Given the description of an element on the screen output the (x, y) to click on. 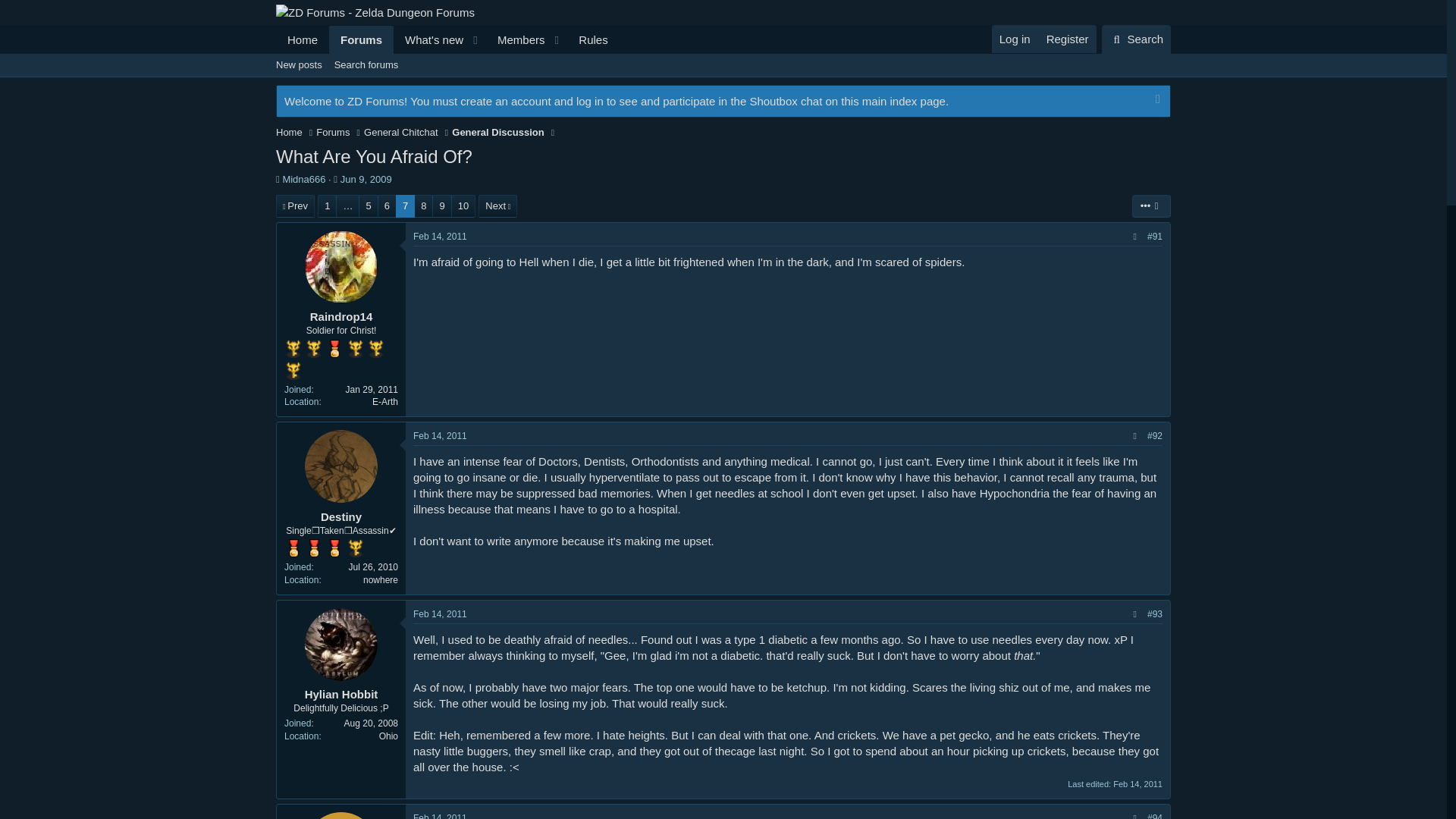
Rules (592, 39)
Feb 14, 2011 at 1:42 AM (440, 614)
Forums (361, 39)
Search forums (366, 65)
Log in (1014, 39)
General Discussion (497, 132)
What's new (428, 39)
Feb 14, 2011 at 2:03 AM (440, 816)
New posts (447, 39)
